Given the description of an element on the screen output the (x, y) to click on. 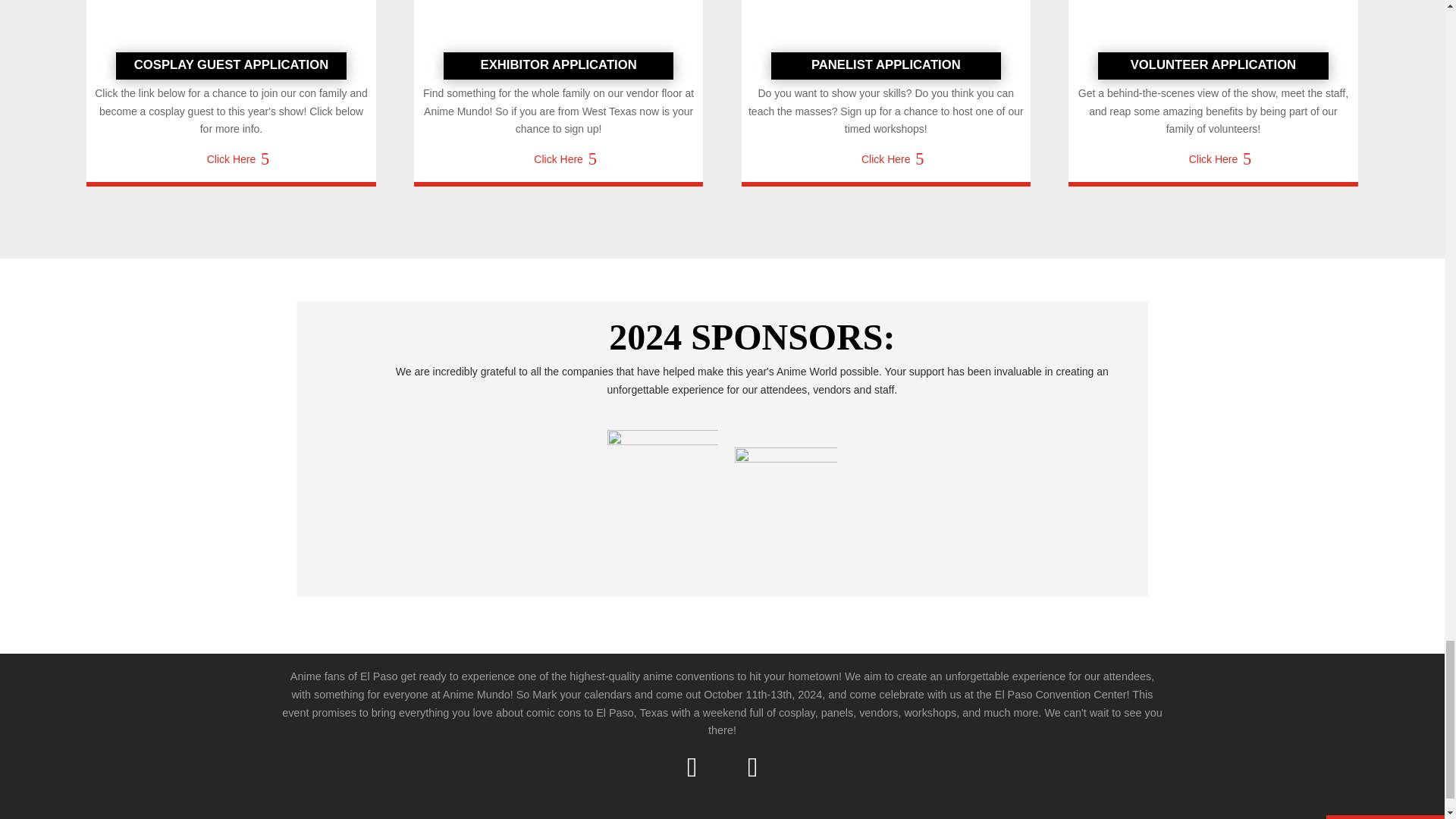
Click Here (558, 159)
Click Here (1214, 159)
Click Here (886, 159)
Click Here (231, 165)
